Given the description of an element on the screen output the (x, y) to click on. 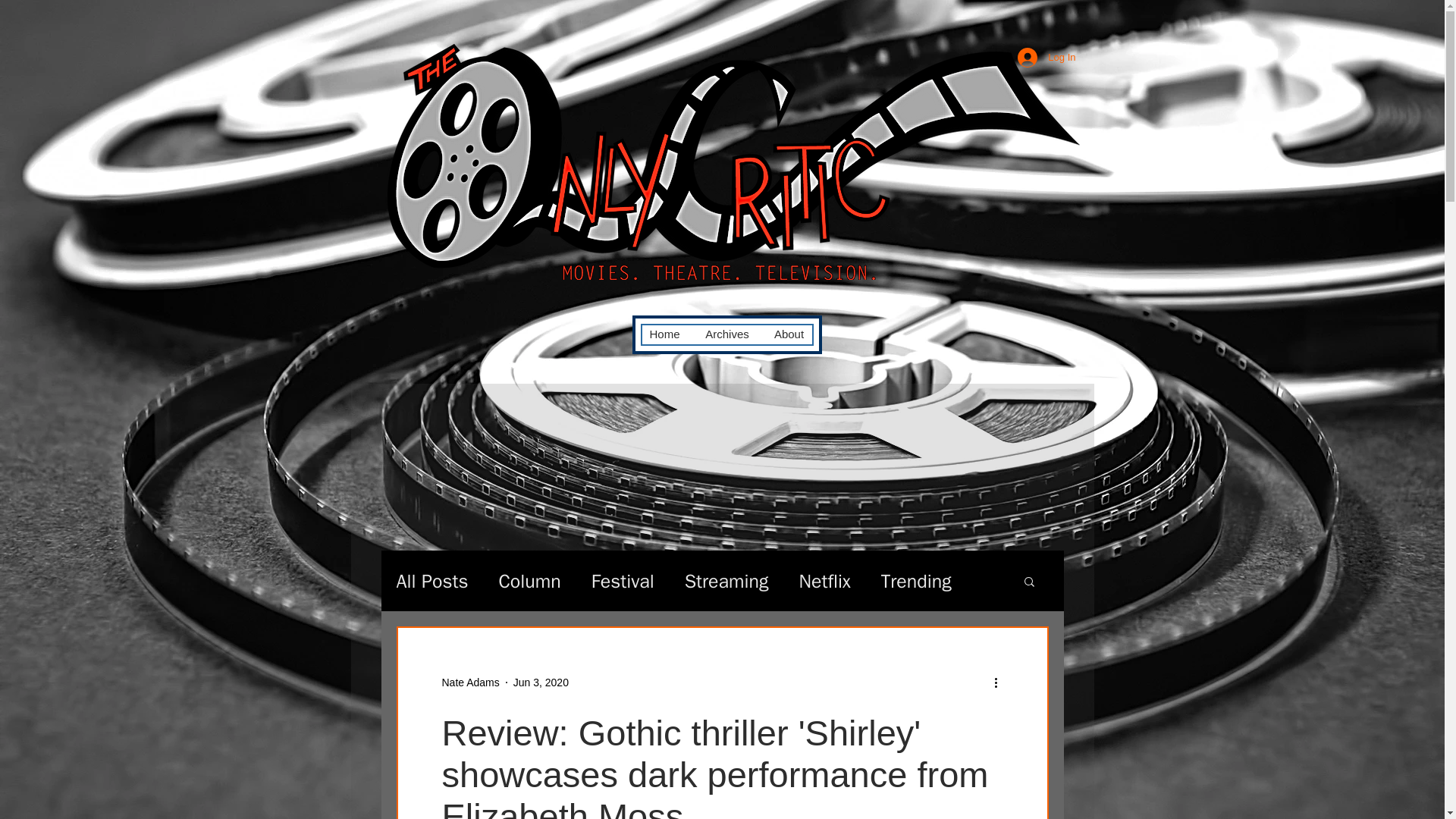
Trending (916, 580)
Netflix (823, 580)
Log In (1046, 57)
Jun 3, 2020 (541, 682)
Column (528, 580)
Festival (622, 580)
Nate Adams (470, 682)
About (788, 333)
All Posts (431, 580)
Nate Adams (470, 682)
